Given the description of an element on the screen output the (x, y) to click on. 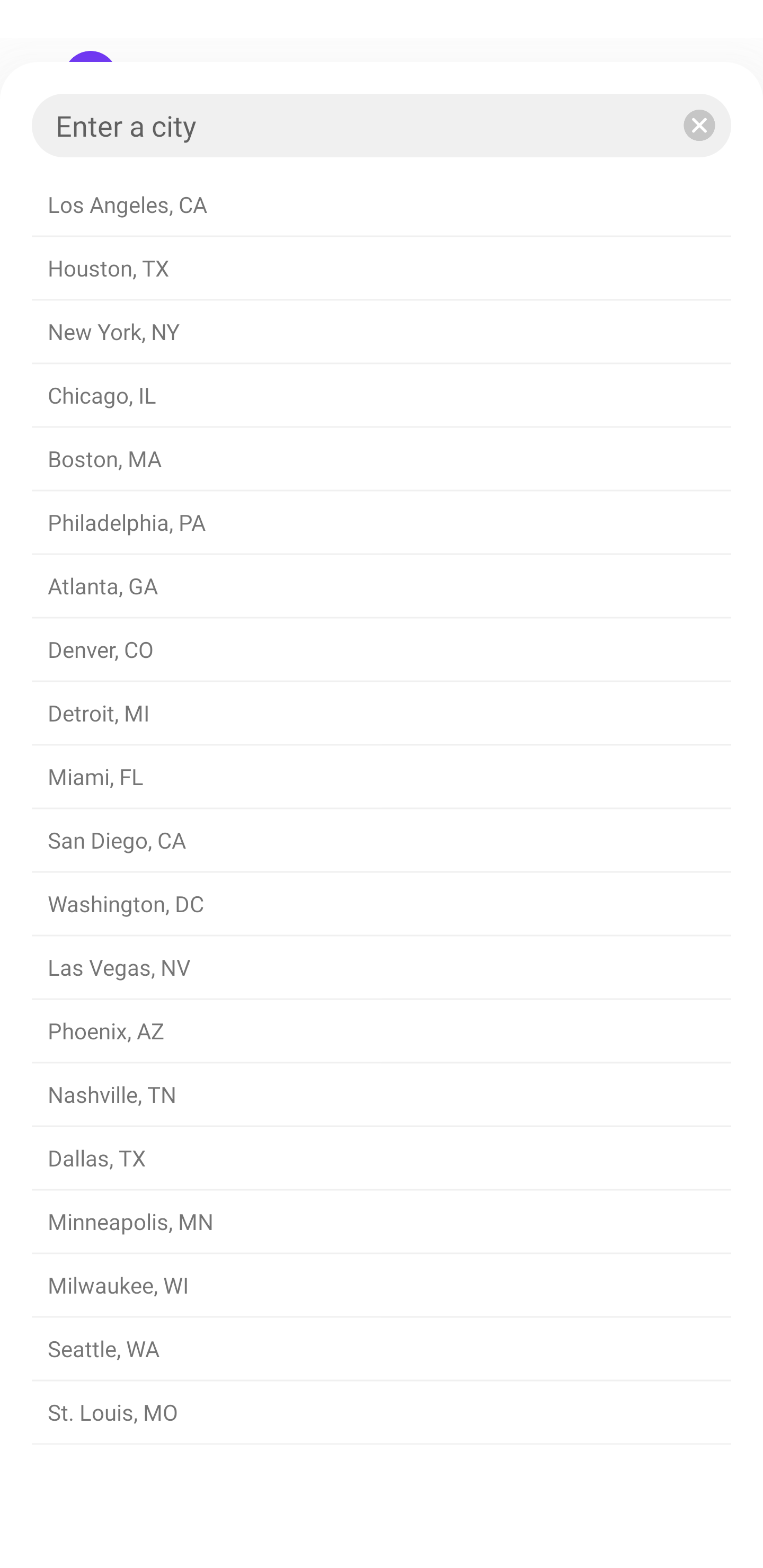
Enter a city (381, 125)
Los Angeles, CA (381, 204)
Houston, TX (381, 268)
New York, NY (381, 332)
Chicago, IL (381, 395)
Boston, MA (381, 459)
Philadelphia, PA (381, 522)
Atlanta, GA (381, 586)
Denver, CO (381, 649)
Detroit, MI (381, 713)
Miami, FL (381, 776)
San Diego, CA (381, 840)
Washington, DC (381, 903)
Las Vegas, NV (381, 968)
Phoenix, AZ (381, 1031)
Nashville, TN (381, 1095)
Dallas, TX (381, 1158)
Minneapolis, MN (381, 1222)
Milwaukee, WI (381, 1285)
Seattle, WA (381, 1349)
St. Louis, MO (381, 1412)
